Given the description of an element on the screen output the (x, y) to click on. 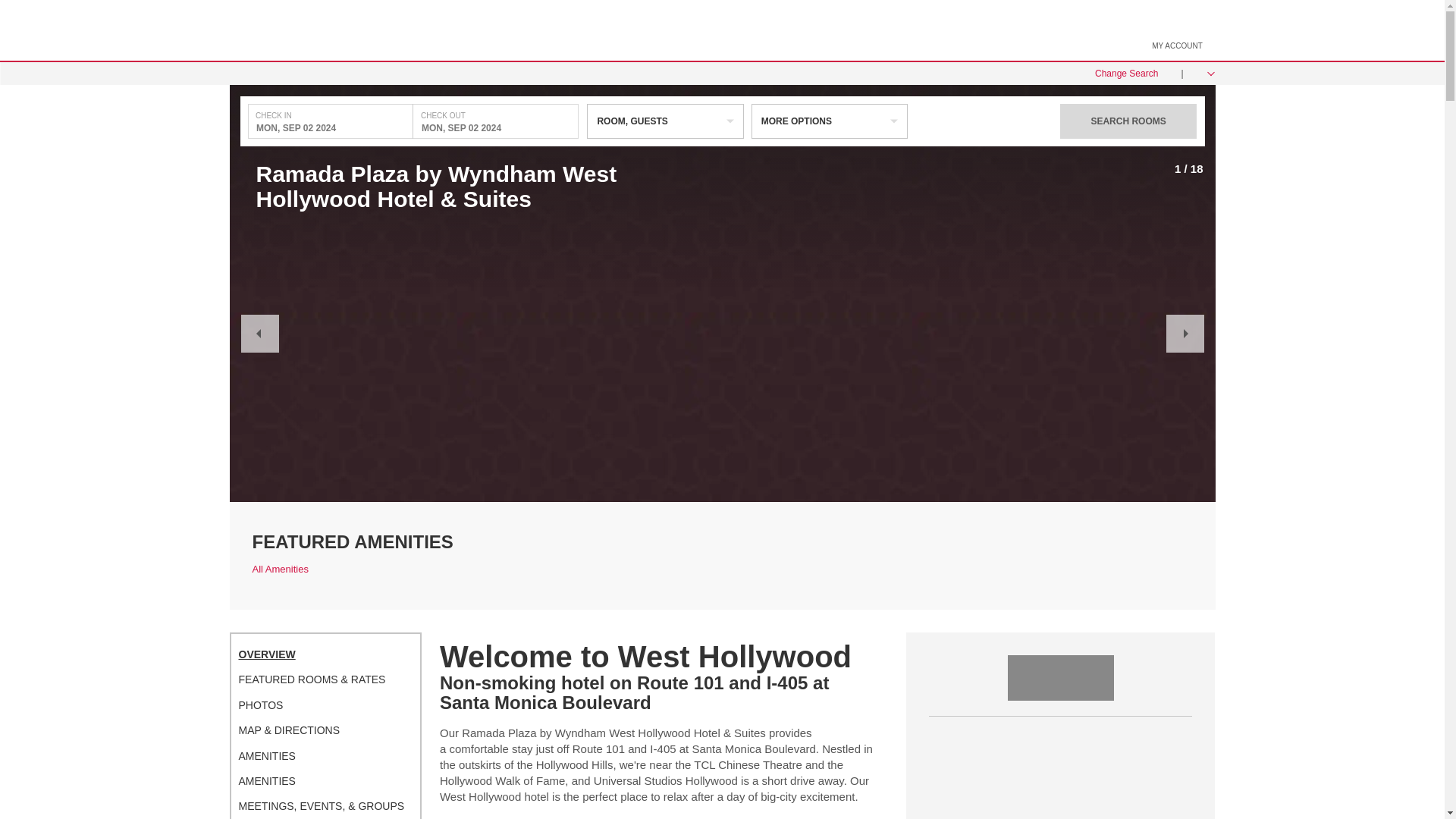
LOCATIONS (568, 30)
BOOK (492, 30)
FIND RESERVATION (822, 30)
GROUPS (717, 30)
MY ACCOUNT (1176, 45)
LANGUAGES (1028, 29)
DEALS (645, 30)
